Given the description of an element on the screen output the (x, y) to click on. 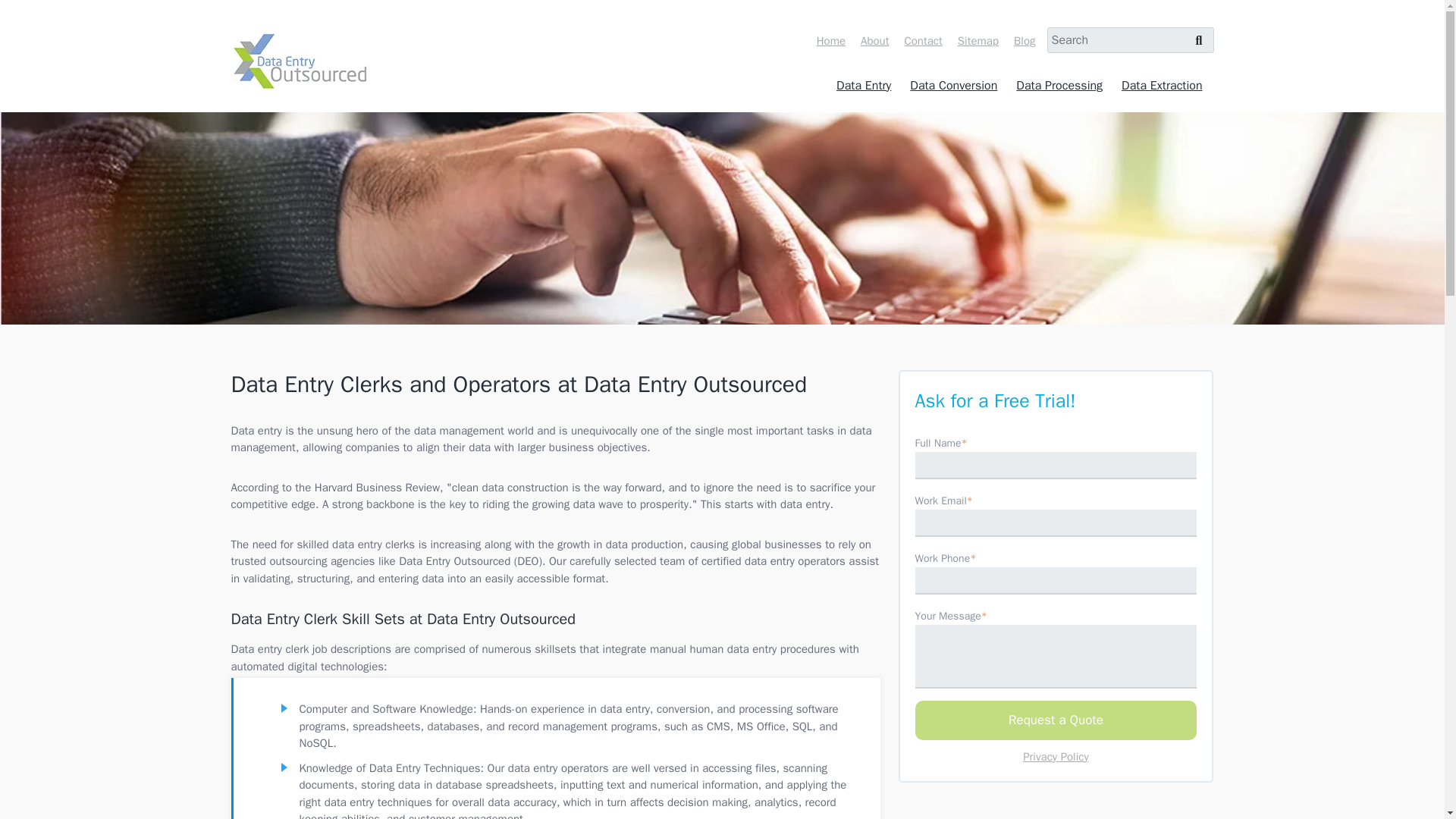
Home (834, 41)
Blog (1028, 41)
Data Conversion (955, 85)
Sitemap (981, 41)
Contact (926, 41)
Search (1202, 54)
Data Entry Outsourced Logo (298, 61)
Data Entry (865, 85)
About (878, 41)
Search (1202, 54)
